Given the description of an element on the screen output the (x, y) to click on. 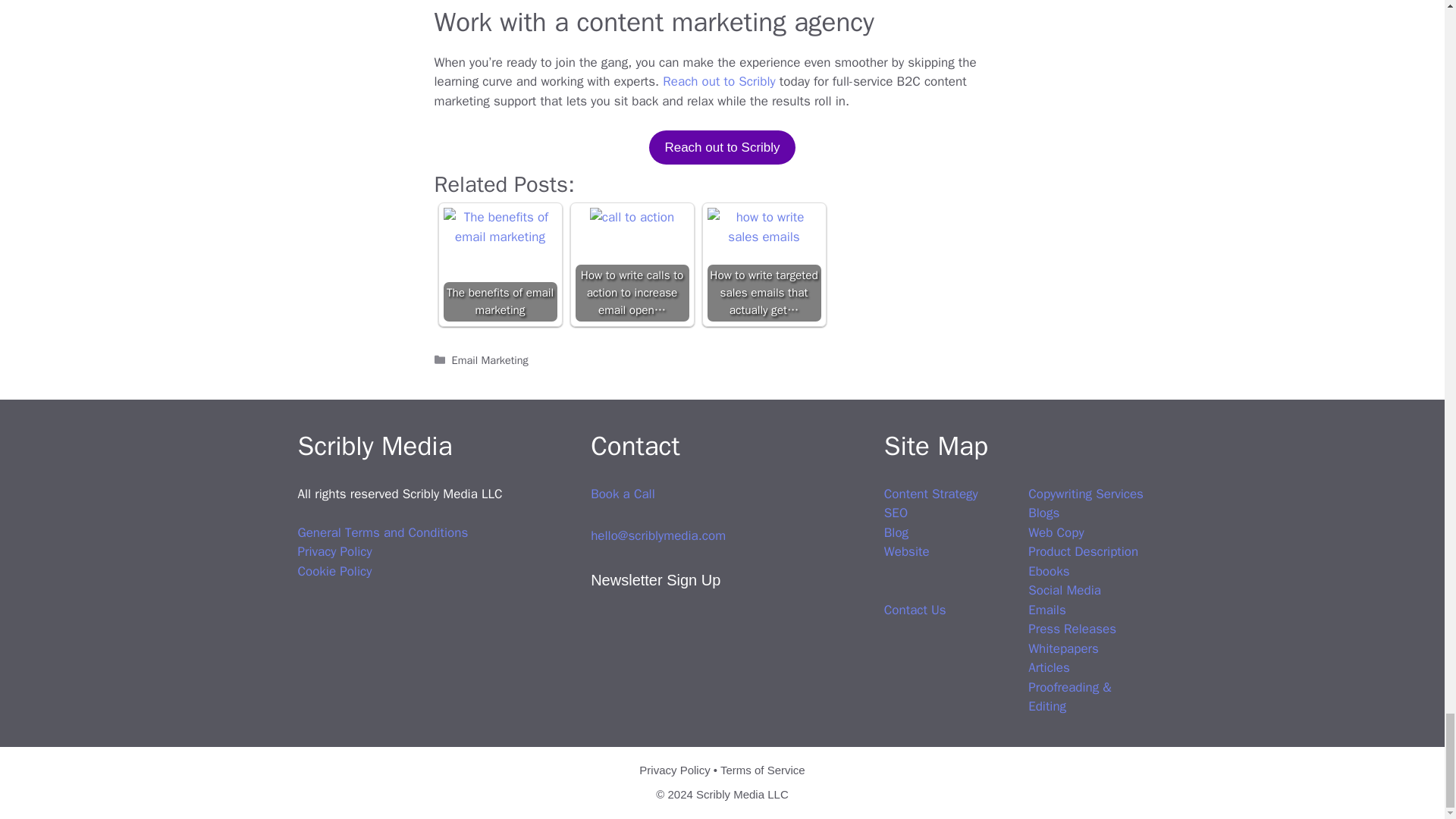
The benefits of email marketing (499, 227)
